Given the description of an element on the screen output the (x, y) to click on. 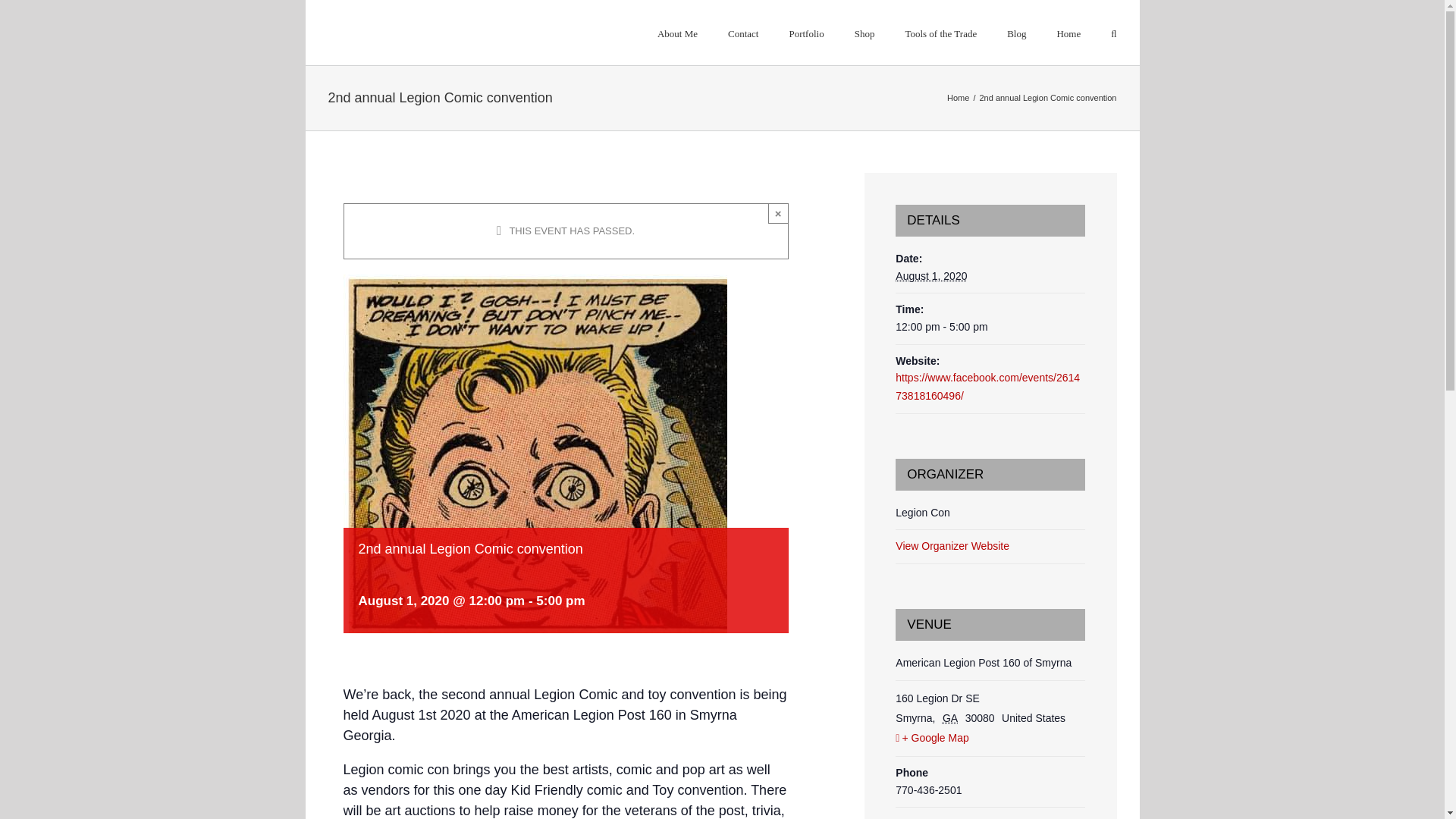
Home (958, 97)
View Venue Website (943, 818)
View Organizer Website (952, 545)
Tools of the Trade (940, 32)
2020-08-01 (989, 327)
2020-08-01 (930, 275)
